Given the description of an element on the screen output the (x, y) to click on. 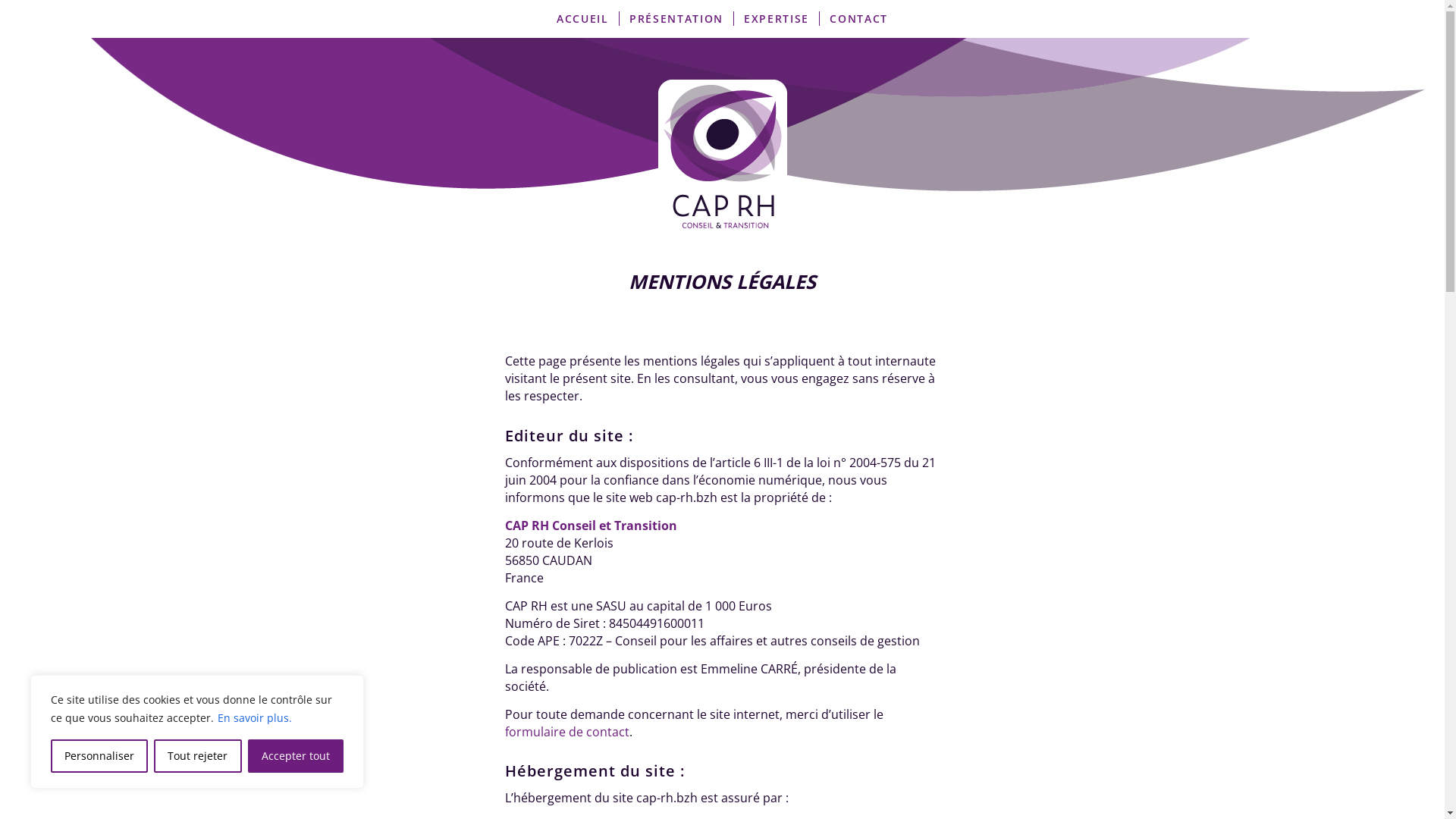
Personnaliser Element type: text (98, 755)
formulaire de contact Element type: text (567, 731)
ACCUEIL Element type: text (582, 18)
Tout rejeter Element type: text (197, 755)
CONTACT Element type: text (858, 18)
Accepter tout Element type: text (295, 755)
EXPERTISE Element type: text (776, 18)
En savoir plus. Element type: text (254, 717)
